Given the description of an element on the screen output the (x, y) to click on. 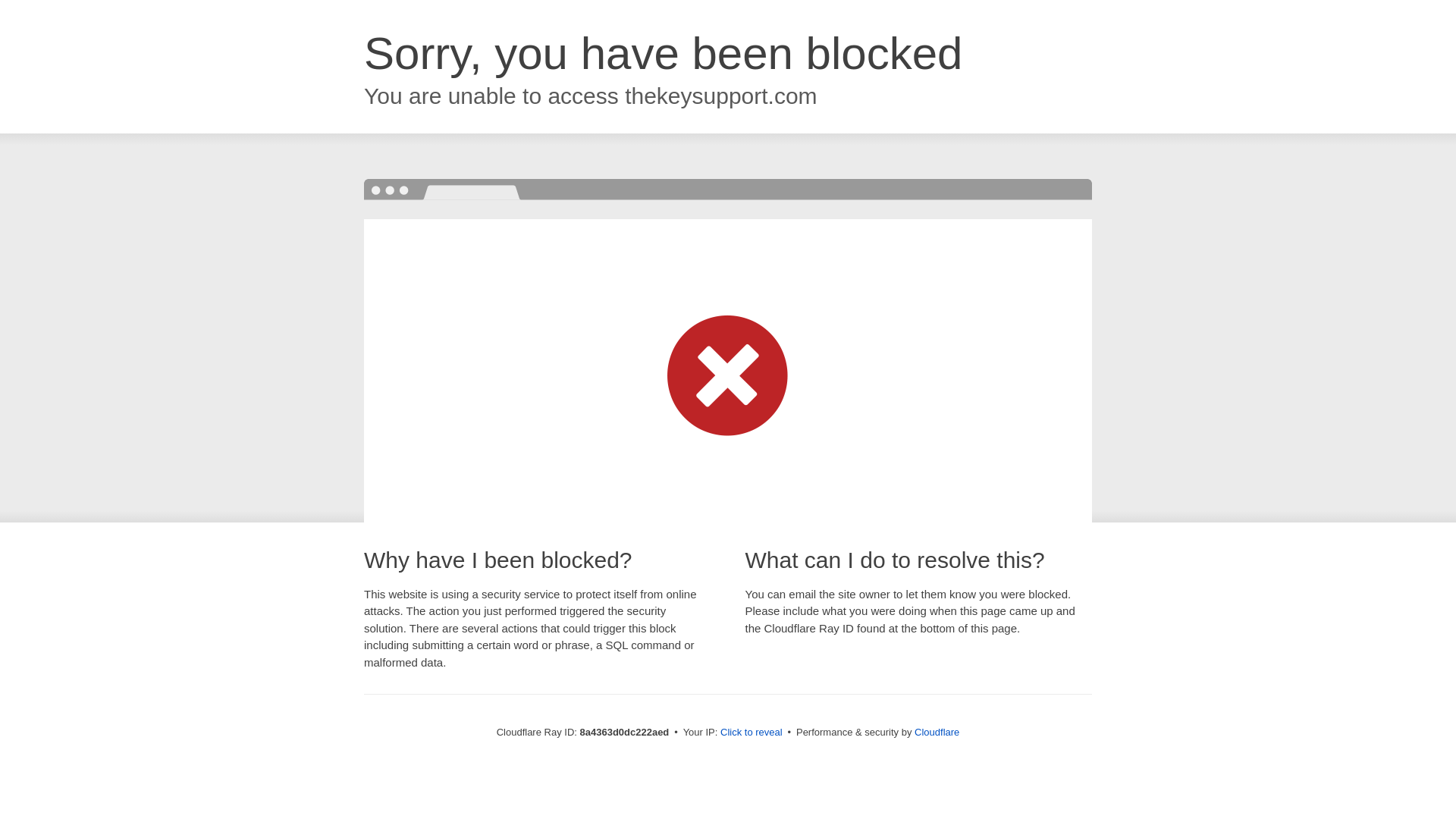
Click to reveal (751, 732)
Cloudflare (936, 731)
